Given the description of an element on the screen output the (x, y) to click on. 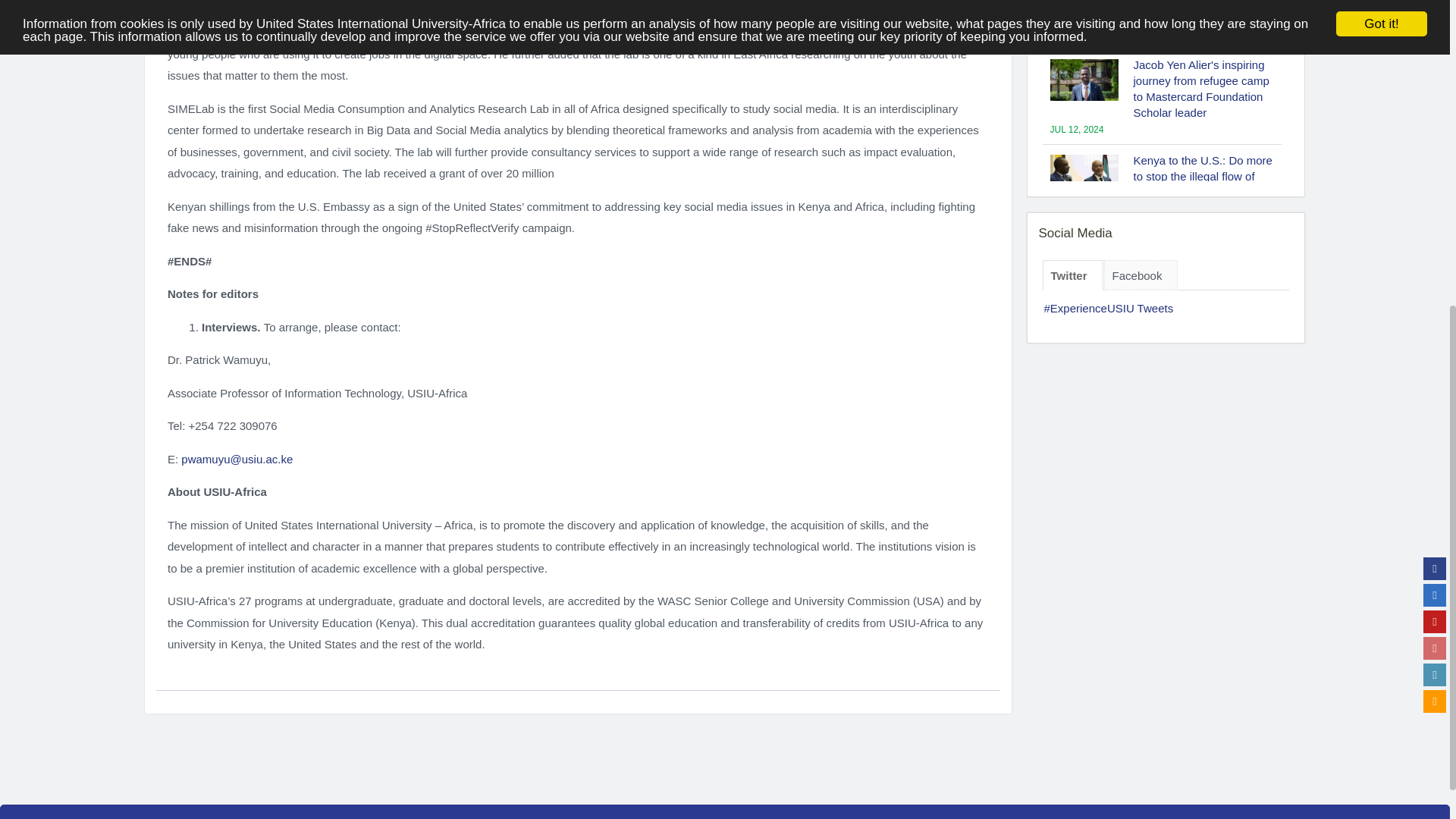
YouTube (1434, 105)
JUL 05, 2024 (1076, 224)
Facebook (1434, 51)
X (1434, 78)
JUL 12, 2024 (1076, 129)
JUL 05, 2024 (1159, 383)
LinkedIn (1434, 158)
Instagram (1434, 131)
Talk to us (1434, 184)
JUL 12, 2024 (1076, 33)
JUL 05, 2024 (1159, 304)
JUN 28, 2024 (1077, 463)
